Given the description of an element on the screen output the (x, y) to click on. 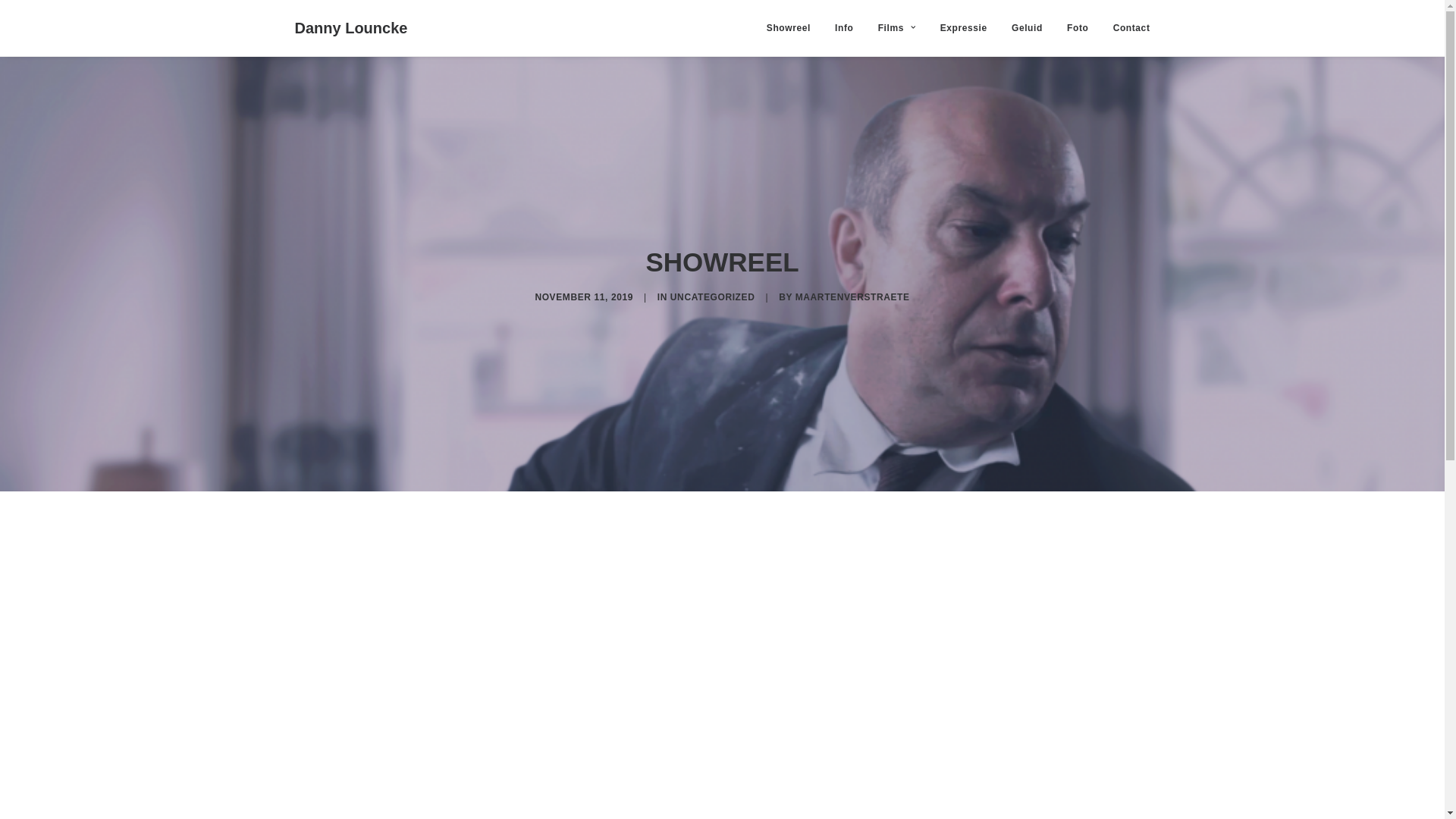
Info Element type: text (843, 28)
UNCATEGORIZED Element type: text (712, 296)
Foto Element type: text (1077, 28)
Danny Louncke Element type: text (350, 27)
Films Element type: text (896, 28)
Expressie Element type: text (963, 28)
Showreel Element type: text (793, 28)
Geluid Element type: text (1027, 28)
MAARTENVERSTRAETE Element type: text (852, 296)
Contact Element type: text (1126, 28)
